Given the description of an element on the screen output the (x, y) to click on. 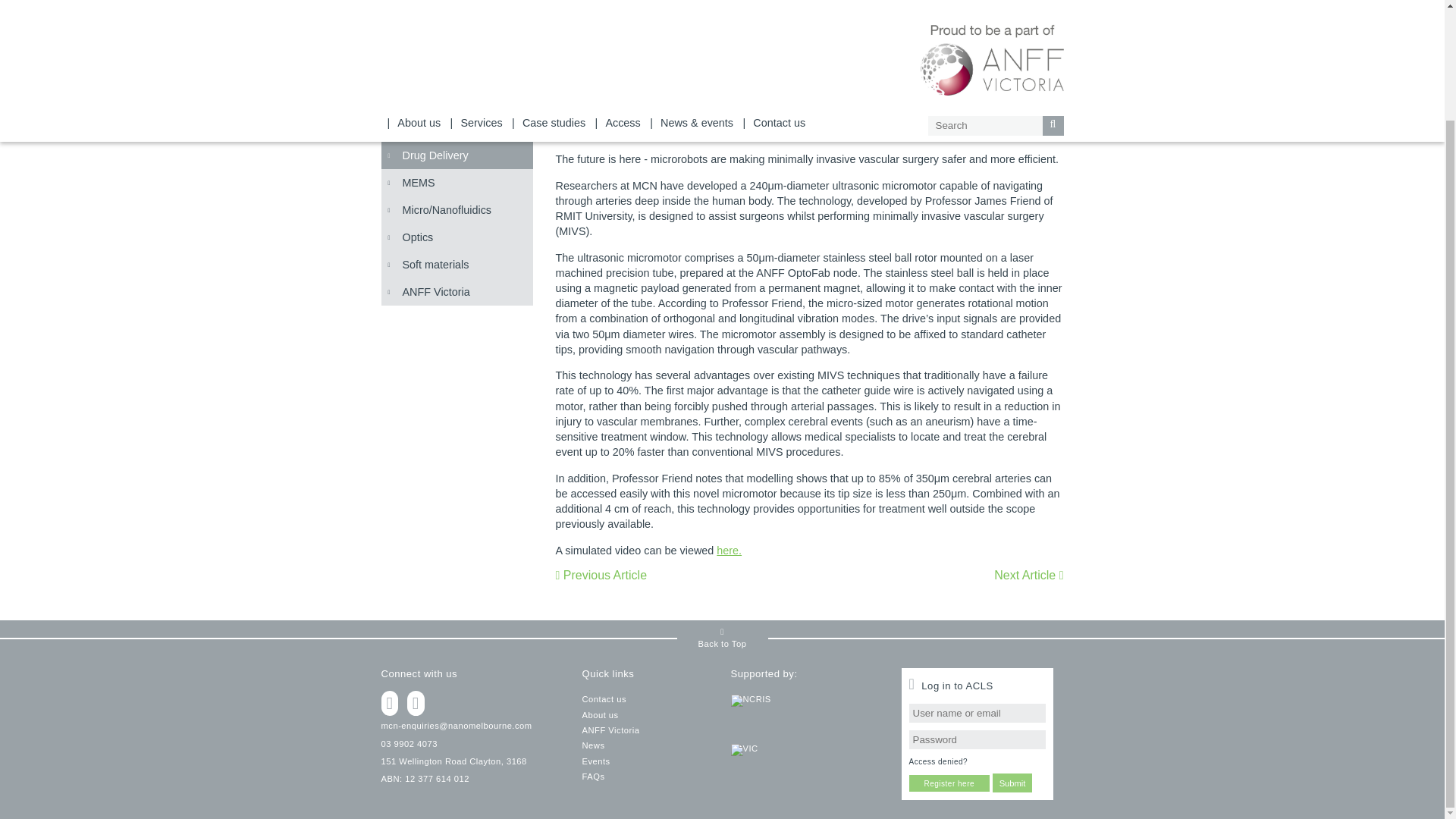
VIC (806, 776)
Back to Top (722, 638)
Read Automated systems for cell transfection (1028, 574)
Call Us (408, 743)
Read Nano-engineered intelligent delivery systems (600, 574)
NCRIS (806, 718)
Email Us (455, 725)
